Given the description of an element on the screen output the (x, y) to click on. 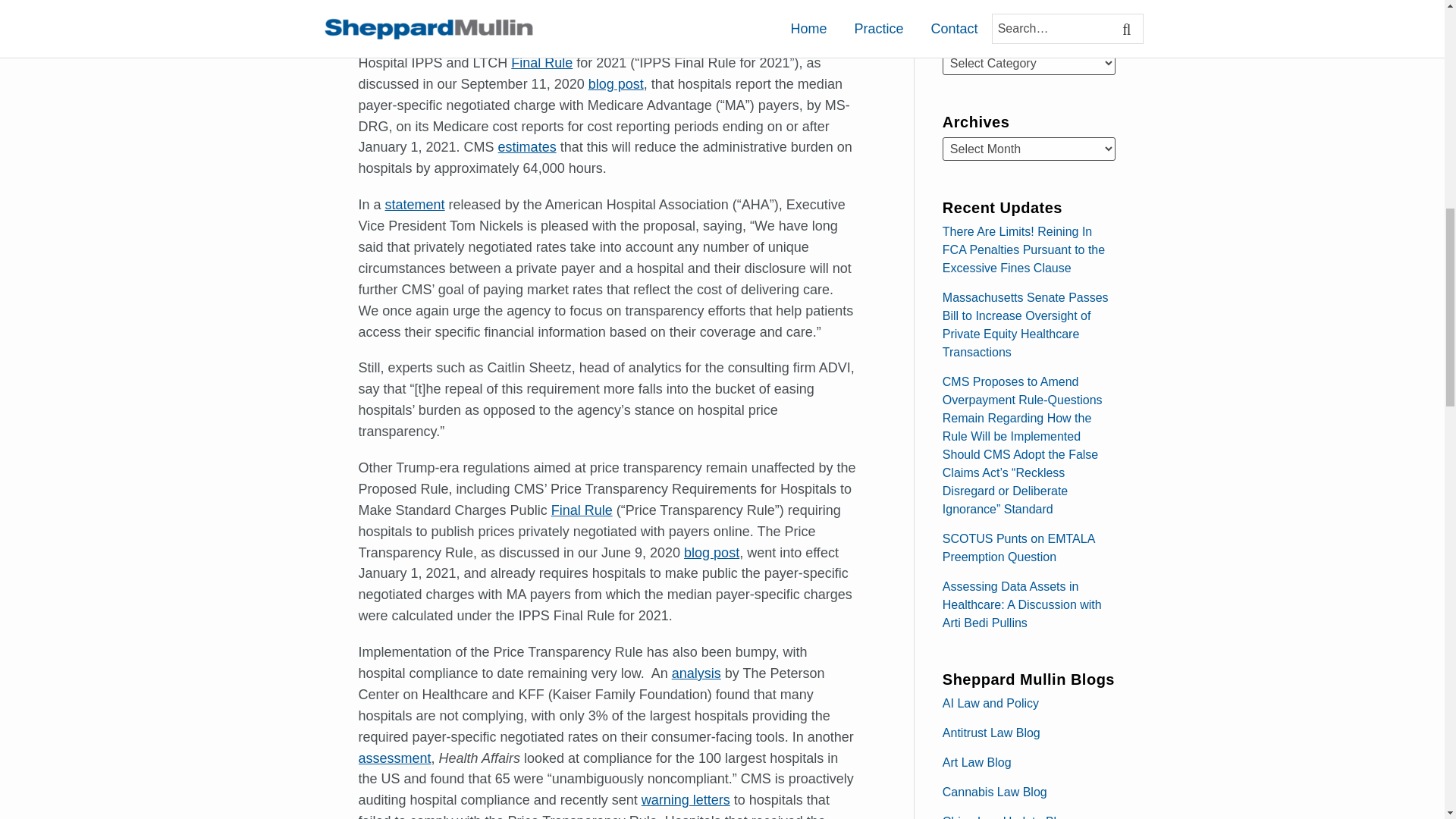
warning letters (686, 799)
assessment (394, 758)
Final Rule (581, 509)
analysis (695, 672)
Proposed Rule (657, 20)
statement (415, 204)
blog post (615, 83)
blog post (711, 552)
estimates (526, 146)
Final Rule (541, 62)
